Given the description of an element on the screen output the (x, y) to click on. 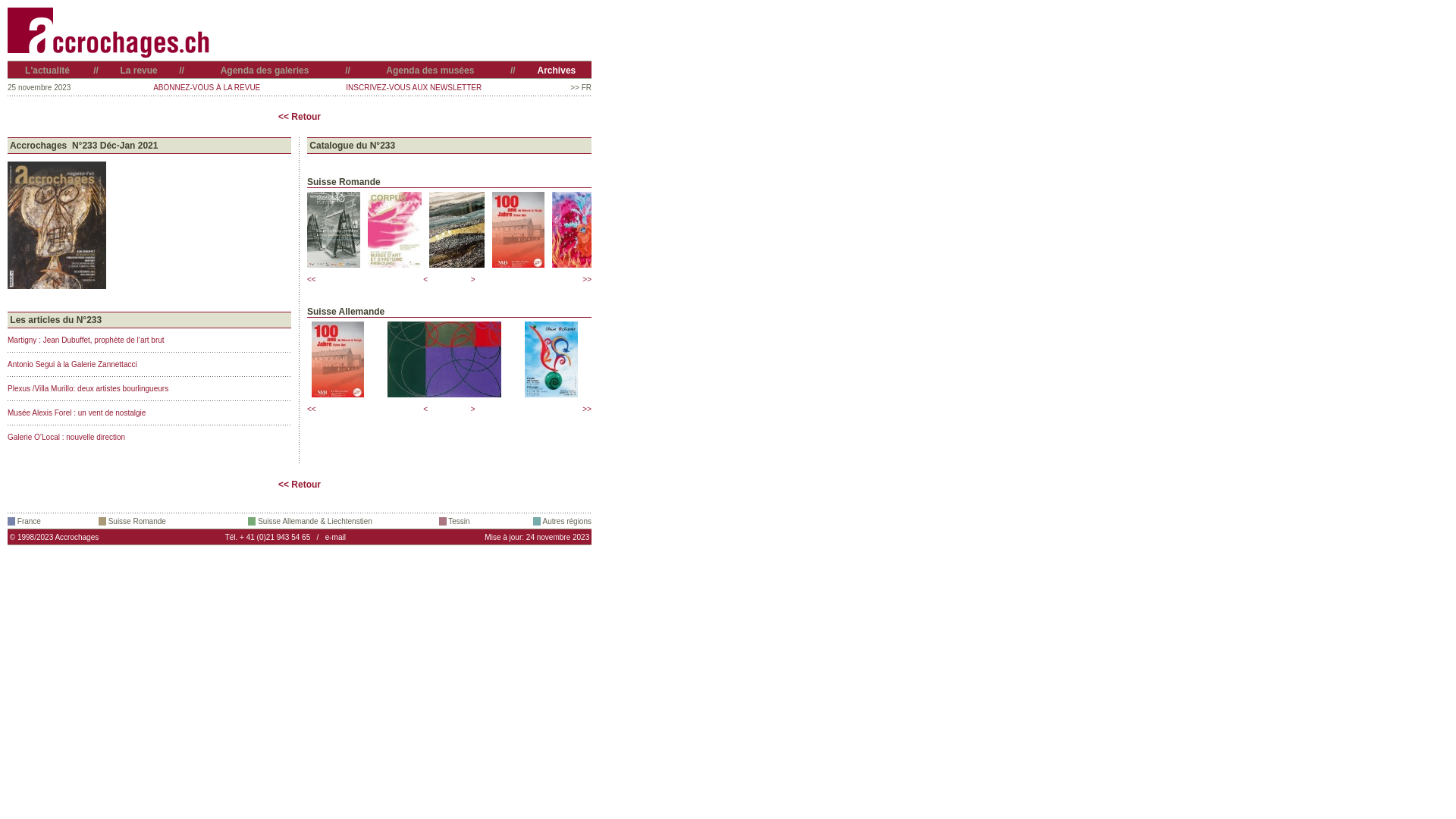
>> Element type: text (586, 408)
Archives Element type: text (556, 70)
e-mail Element type: text (335, 536)
INSCRIVEZ-VOUS AUX NEWSLETTER Element type: text (413, 87)
> Element type: text (472, 279)
<< Element type: text (311, 408)
>> Element type: text (586, 279)
<< Retour Element type: text (299, 484)
Agenda des galeries Element type: text (264, 70)
Plexus /Villa Murillo: deux artistes bourlingueurs Element type: text (87, 388)
La revue Element type: text (137, 70)
> Element type: text (472, 408)
< Element type: text (425, 279)
< Element type: text (425, 408)
<< Retour Element type: text (299, 116)
<< Element type: text (311, 279)
